Given the description of an element on the screen output the (x, y) to click on. 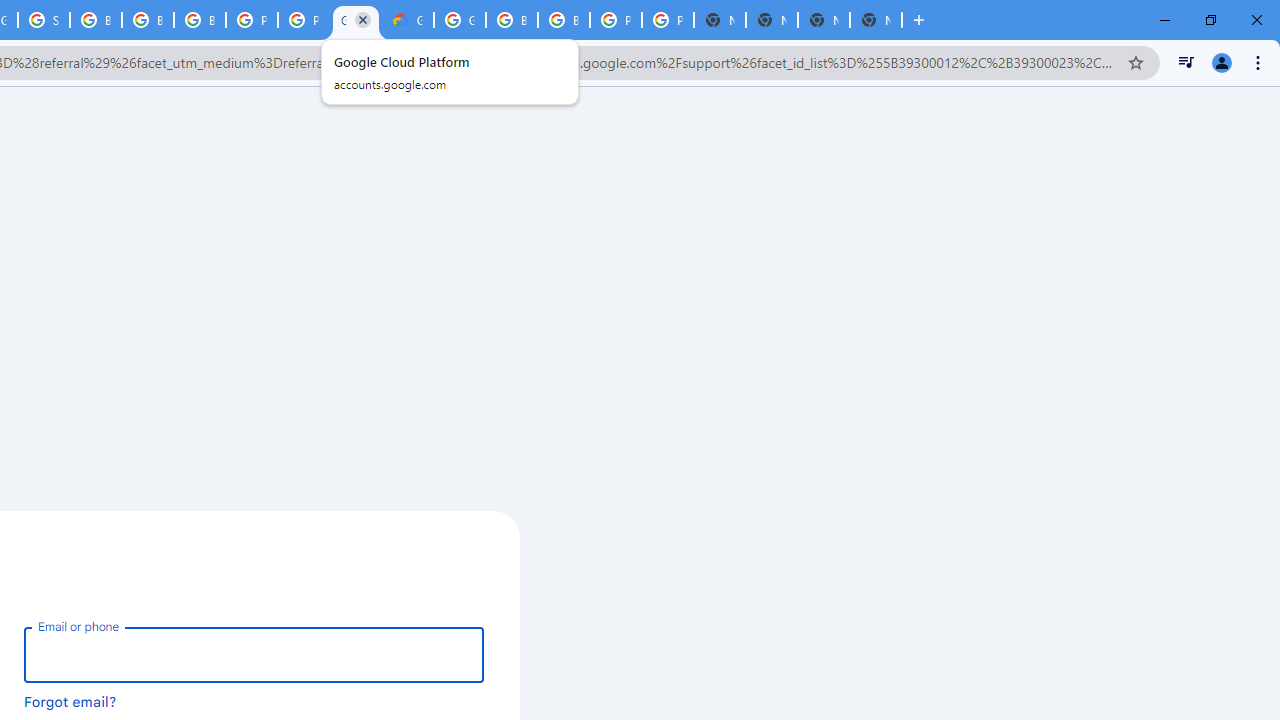
Sign in - Google Accounts (43, 20)
Google Cloud Platform (459, 20)
Browse Chrome as a guest - Computer - Google Chrome Help (95, 20)
New Tab (875, 20)
Forgot email? (70, 701)
Google Cloud Platform (355, 20)
